Given the description of an element on the screen output the (x, y) to click on. 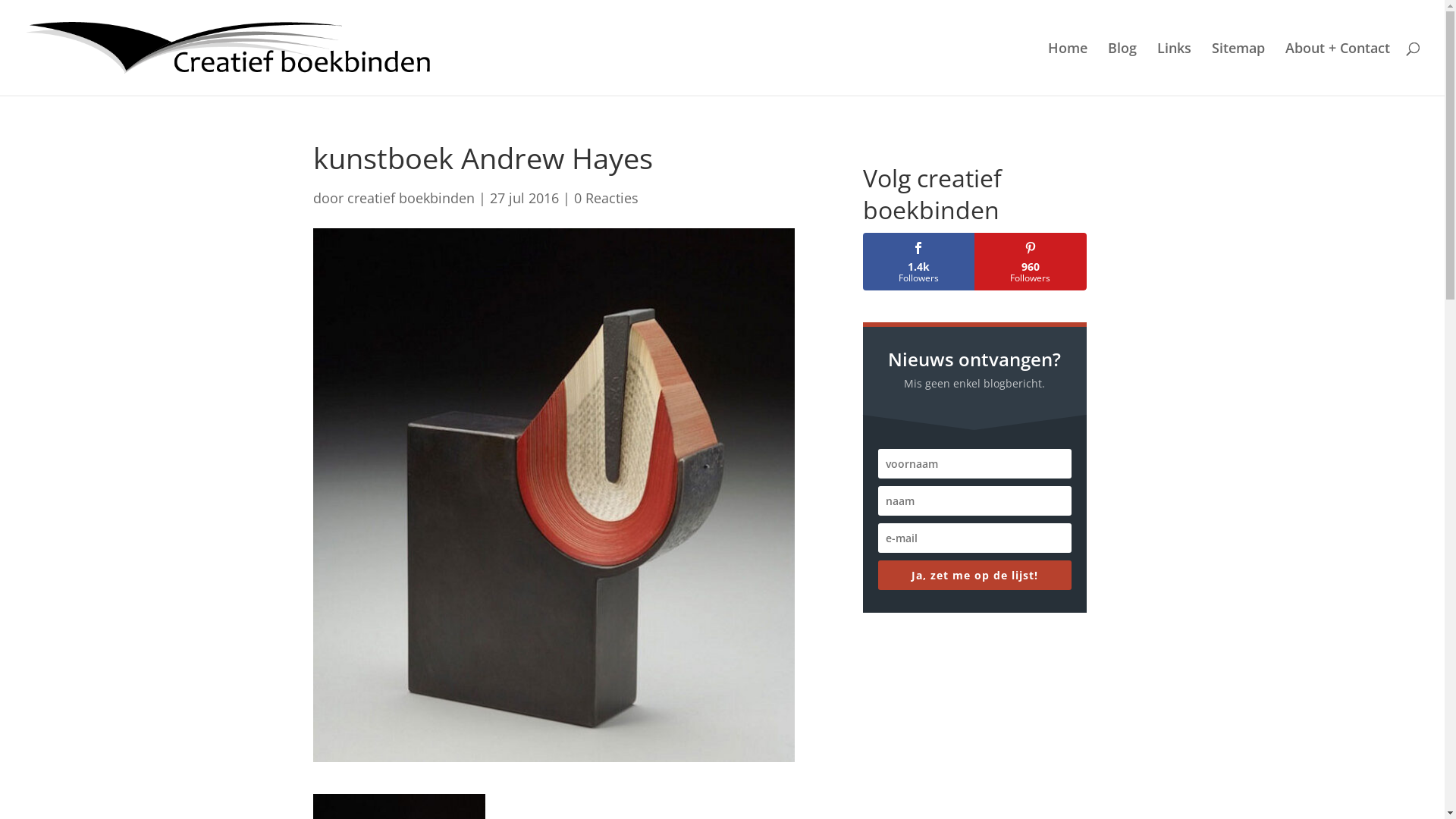
creatief boekbinden Element type: text (410, 197)
Blog Element type: text (1121, 68)
Ja, zet me op de lijst! Element type: text (974, 574)
960
Followers Element type: text (1030, 261)
1.4k
Followers Element type: text (918, 261)
0 Reacties Element type: text (605, 197)
Sitemap Element type: text (1237, 68)
About + Contact Element type: text (1337, 68)
Links Element type: text (1174, 68)
Home Element type: text (1067, 68)
